Given the description of an element on the screen output the (x, y) to click on. 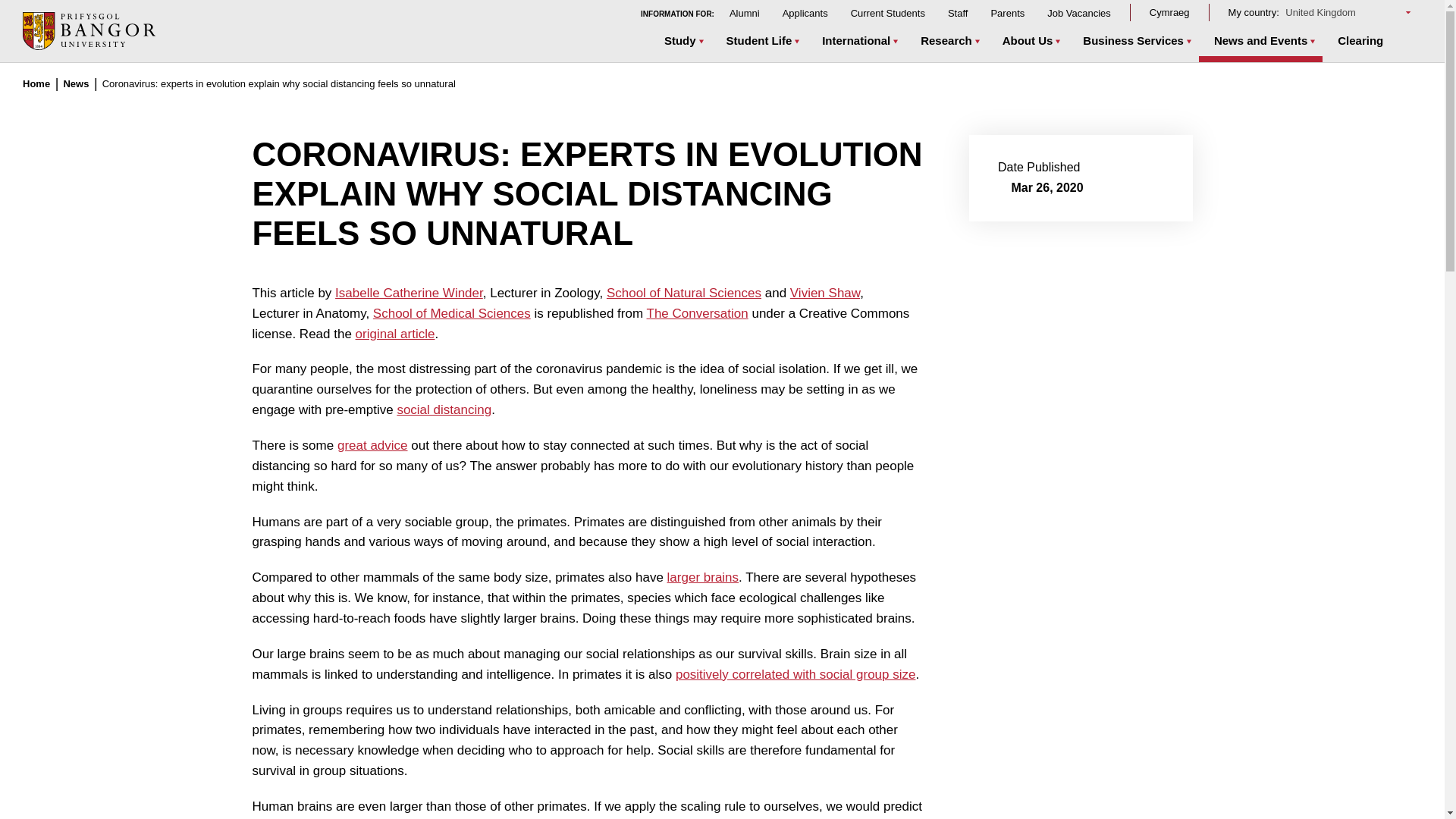
Cymraeg (1169, 12)
Staff (957, 12)
Student Life (759, 41)
Applicants (805, 12)
Information for Parents and Guardians (1007, 12)
Study (680, 41)
Current Students (887, 12)
Alumni (744, 12)
Go to Bangor University Homepage (89, 30)
Parents (1007, 12)
Job Vacancies (1078, 12)
